Given the description of an element on the screen output the (x, y) to click on. 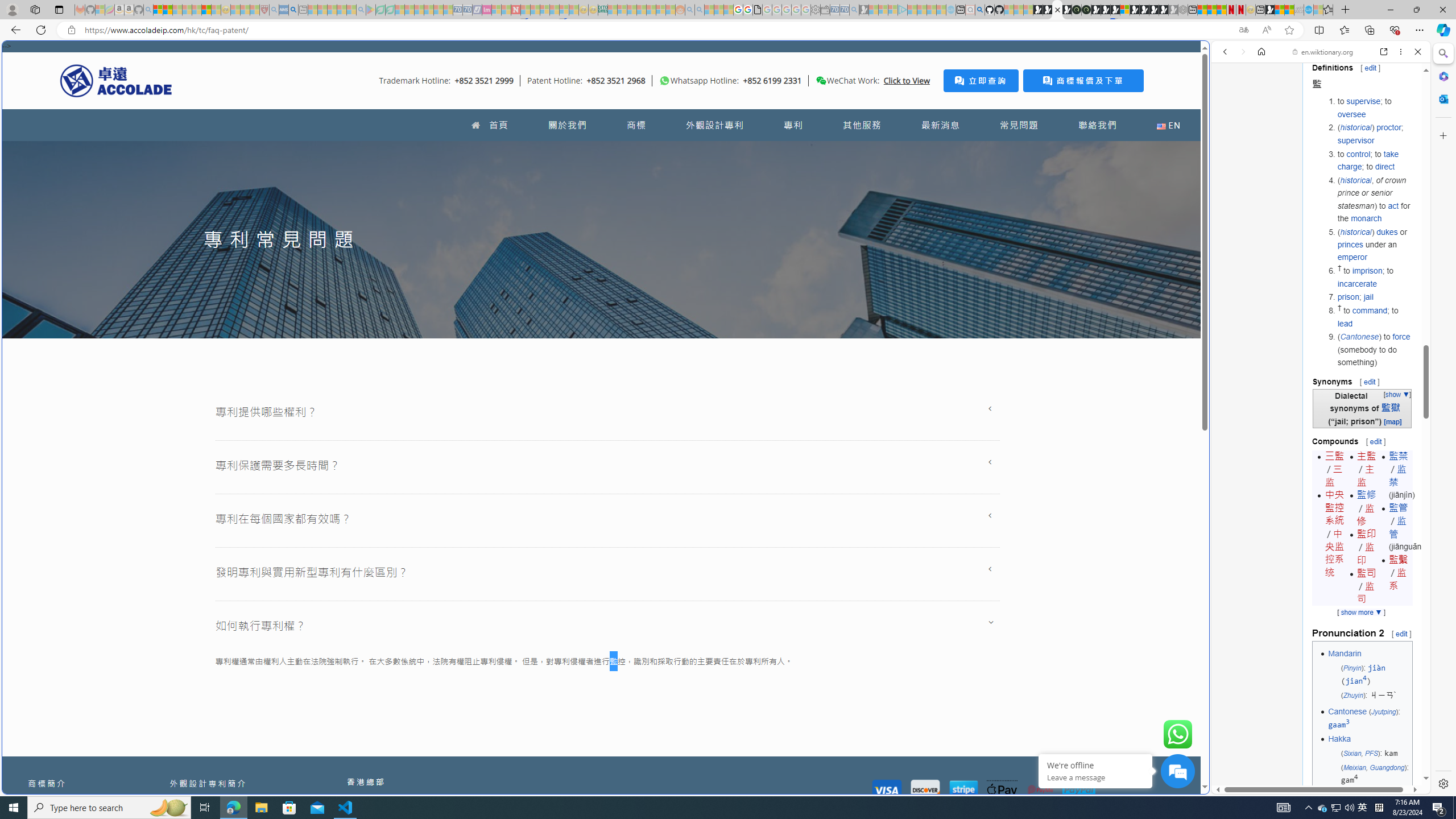
(historical) proctor; supervisor (1374, 134)
Accolade IP HK Logo (116, 80)
Eastern Min (1349, 796)
